Given the description of an element on the screen output the (x, y) to click on. 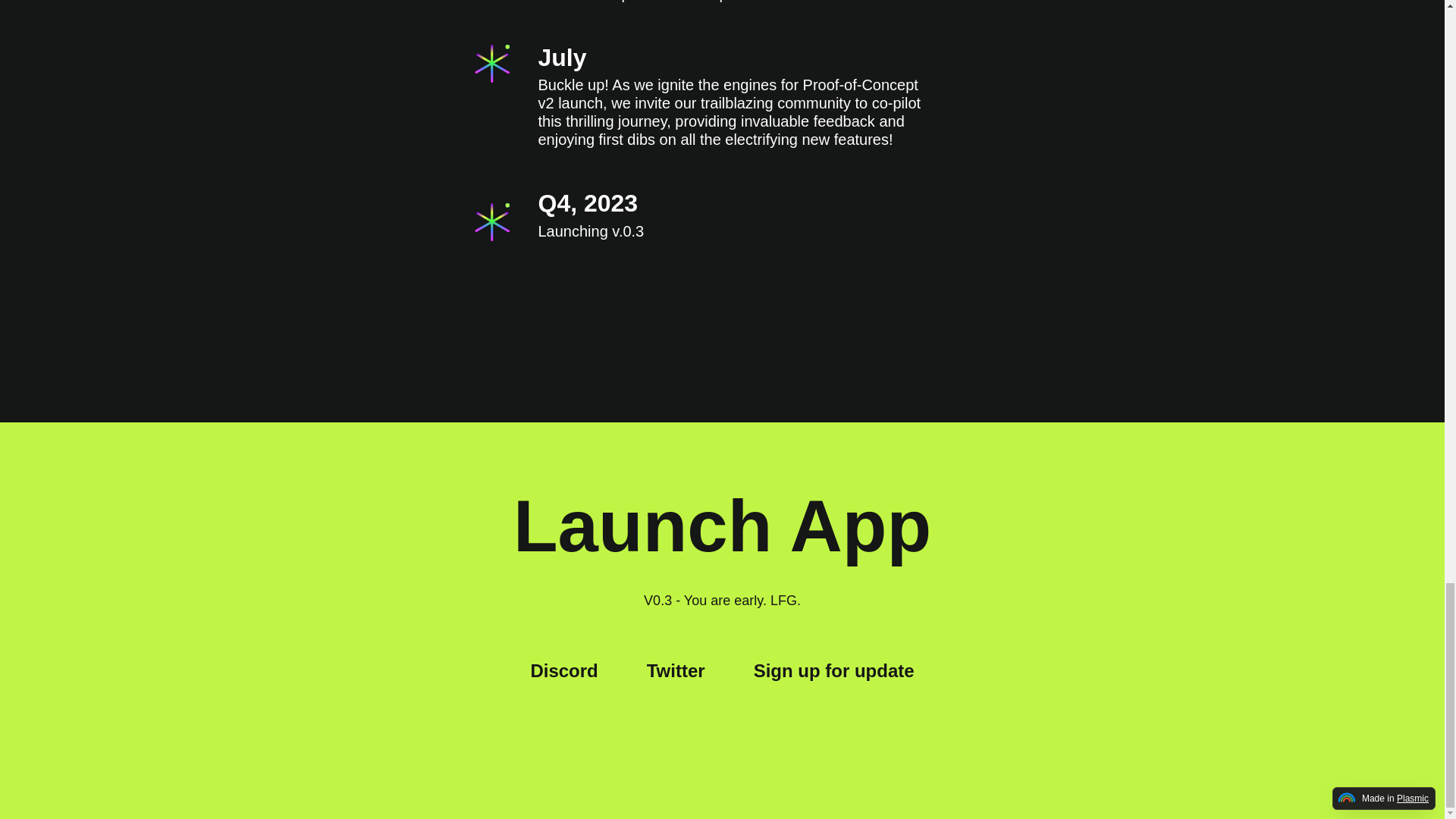
Launch App (722, 525)
Discord (562, 670)
Twitter (675, 670)
Sign up for update (834, 670)
